Given the description of an element on the screen output the (x, y) to click on. 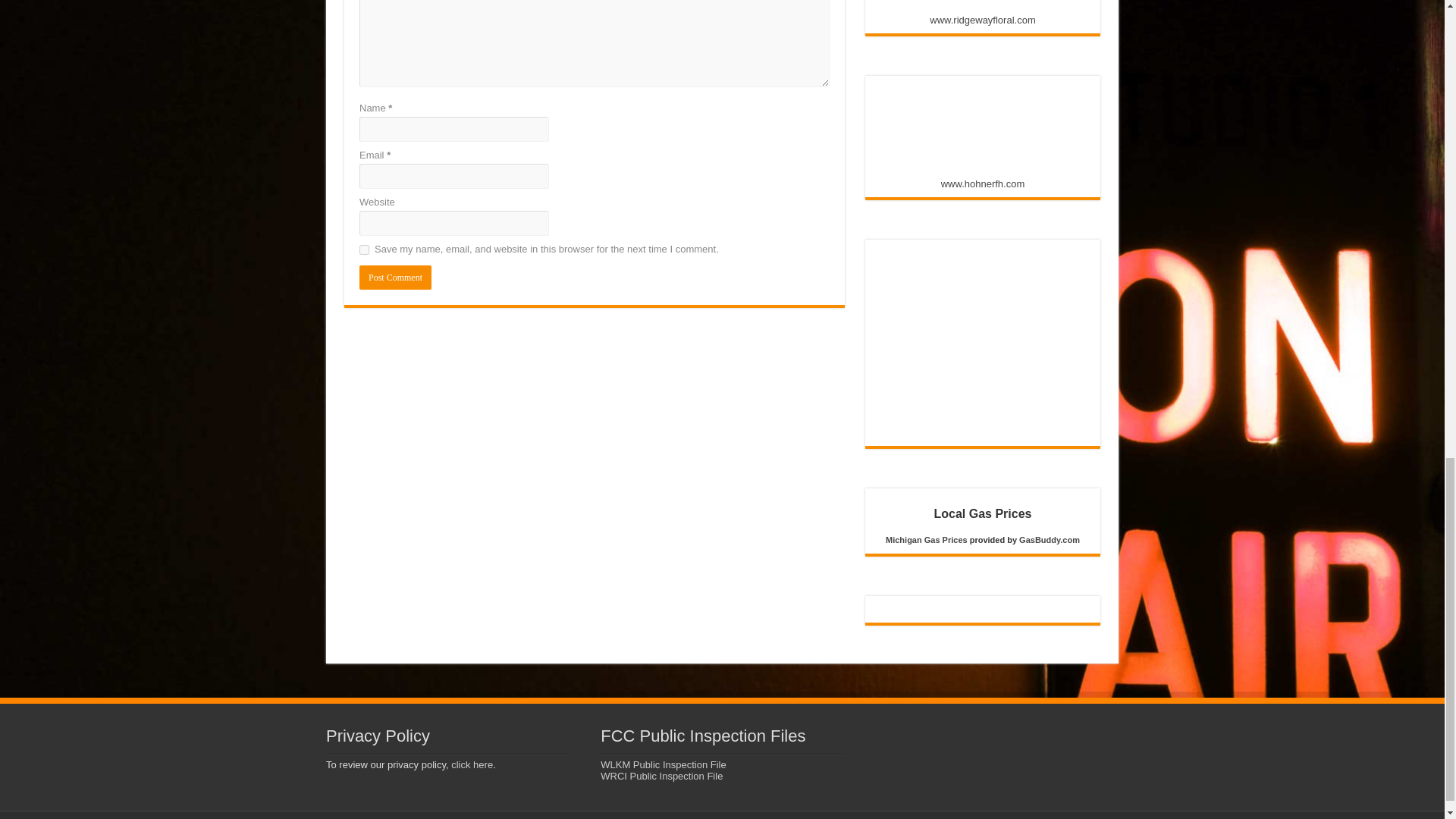
yes (364, 249)
Post Comment (394, 277)
